Given the description of an element on the screen output the (x, y) to click on. 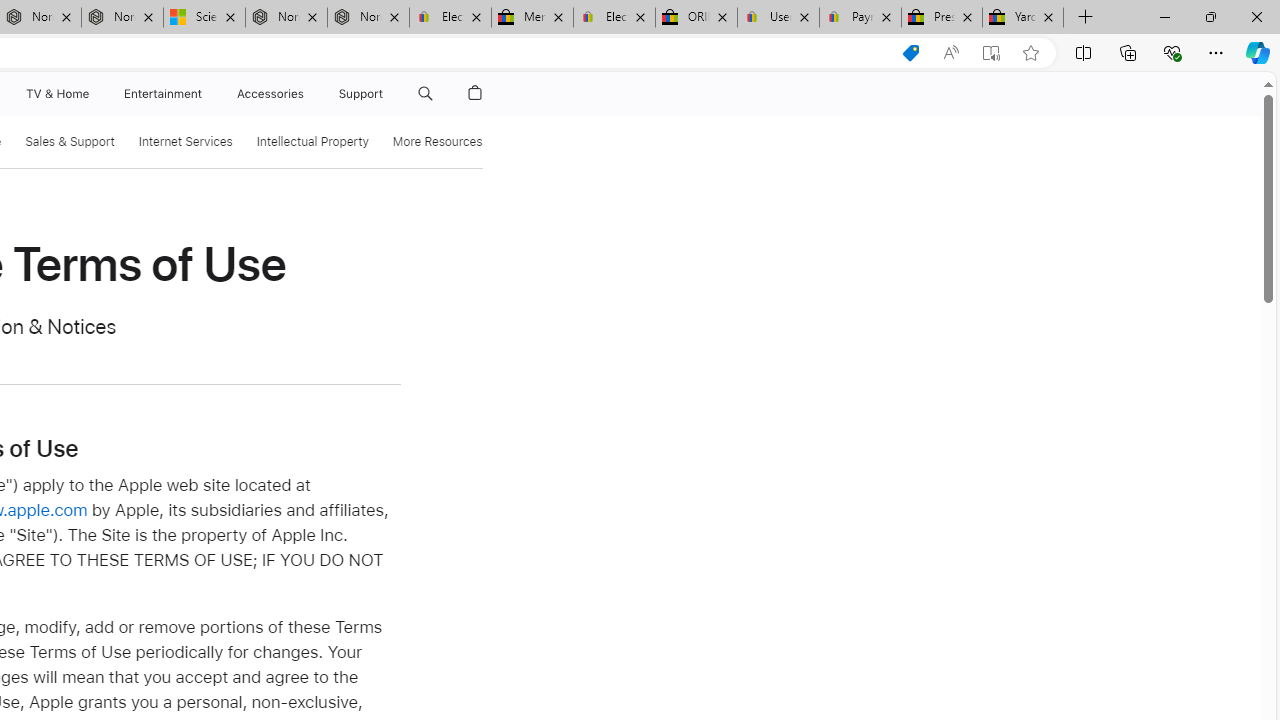
Search apple.com (425, 93)
Internet Services (185, 141)
Nordace - FAQ (368, 17)
Sales & Support (70, 141)
Support menu (387, 93)
Accessories menu (306, 93)
Intellectual Property (312, 141)
TV & Home (56, 93)
Accessories (269, 93)
